Given the description of an element on the screen output the (x, y) to click on. 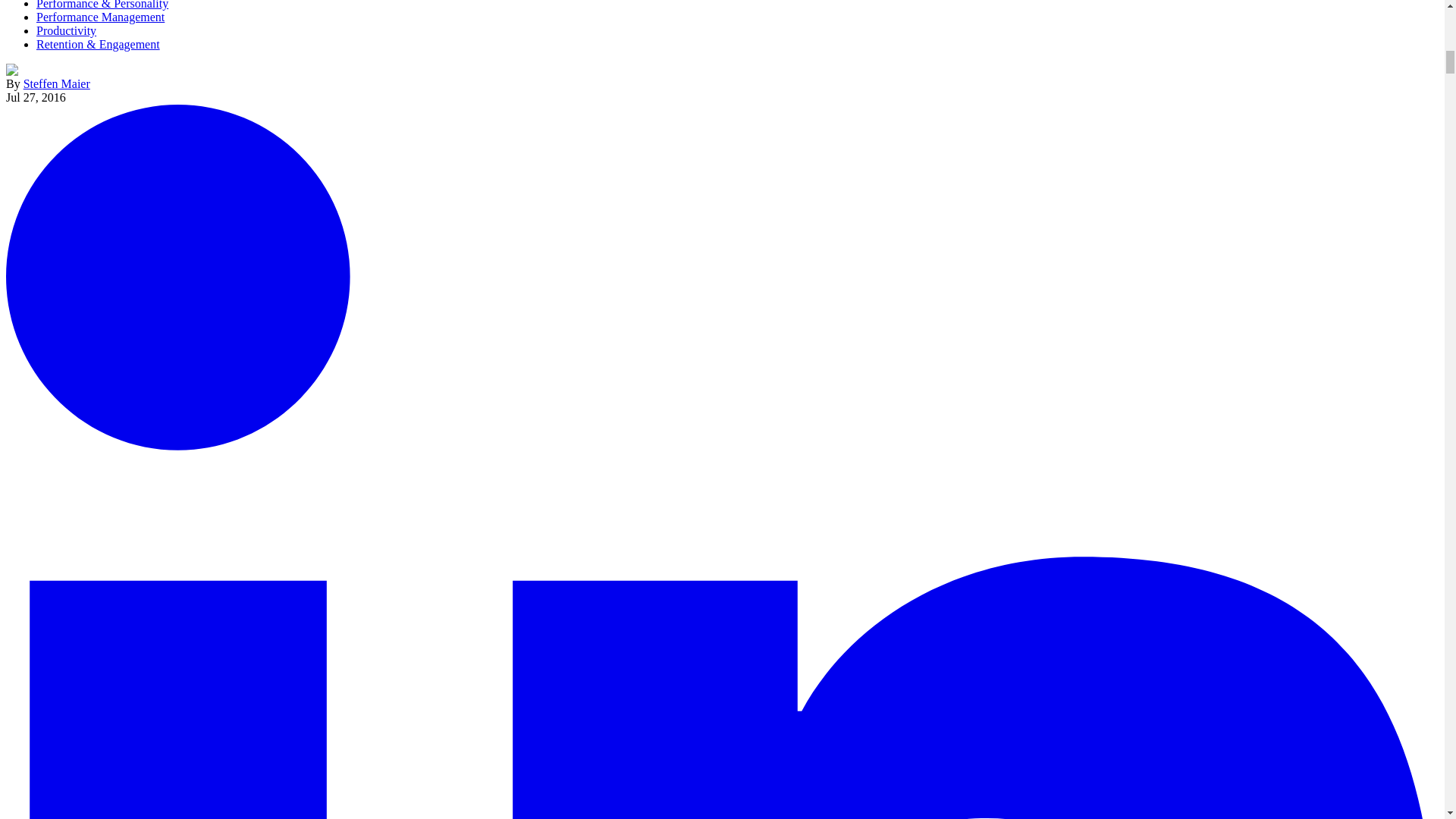
Steffen Maier (56, 83)
Performance Management (100, 16)
Productivity (66, 30)
